Given the description of an element on the screen output the (x, y) to click on. 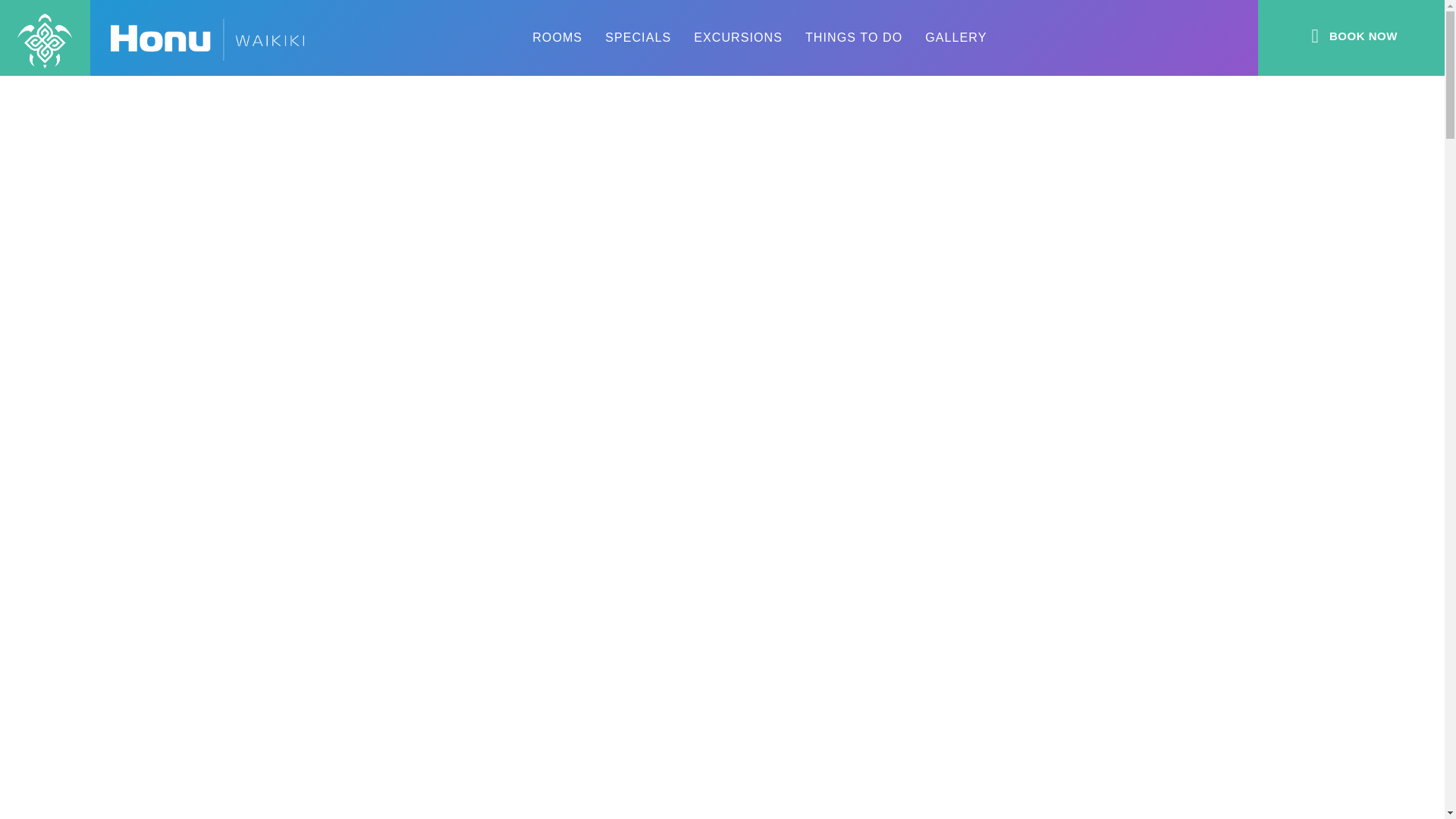
THINGS TO DO (853, 37)
GALLERY (955, 37)
EXCURSIONS (737, 37)
ROOMS (557, 37)
SPECIALS (638, 37)
